Given the description of an element on the screen output the (x, y) to click on. 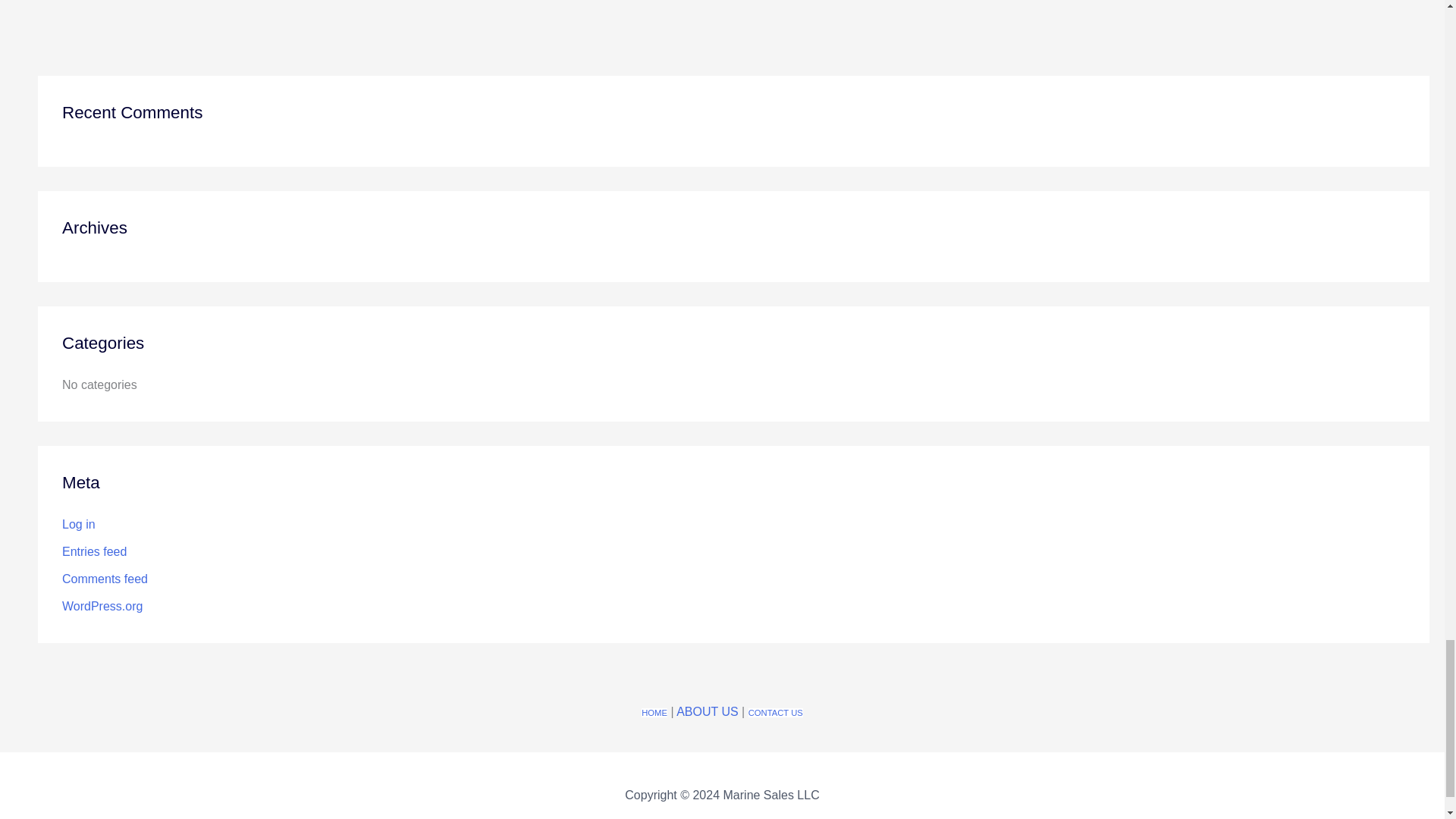
CONTACT US (775, 712)
HOME (654, 712)
Comments feed (105, 578)
Entries feed (94, 551)
WordPress.org (102, 605)
Log in (79, 523)
ABOUT US (707, 711)
